Given the description of an element on the screen output the (x, y) to click on. 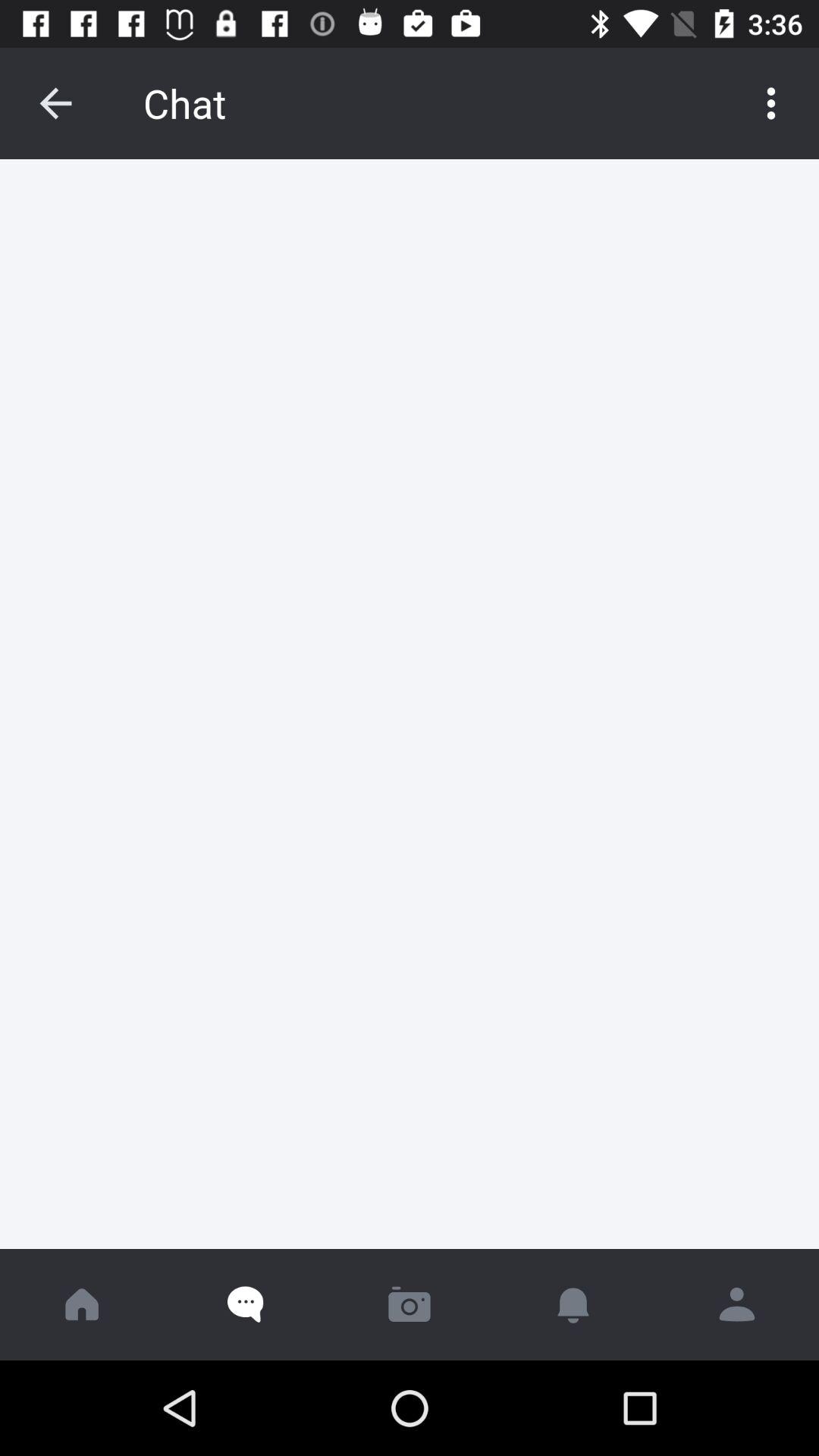
use camera (409, 1304)
